Given the description of an element on the screen output the (x, y) to click on. 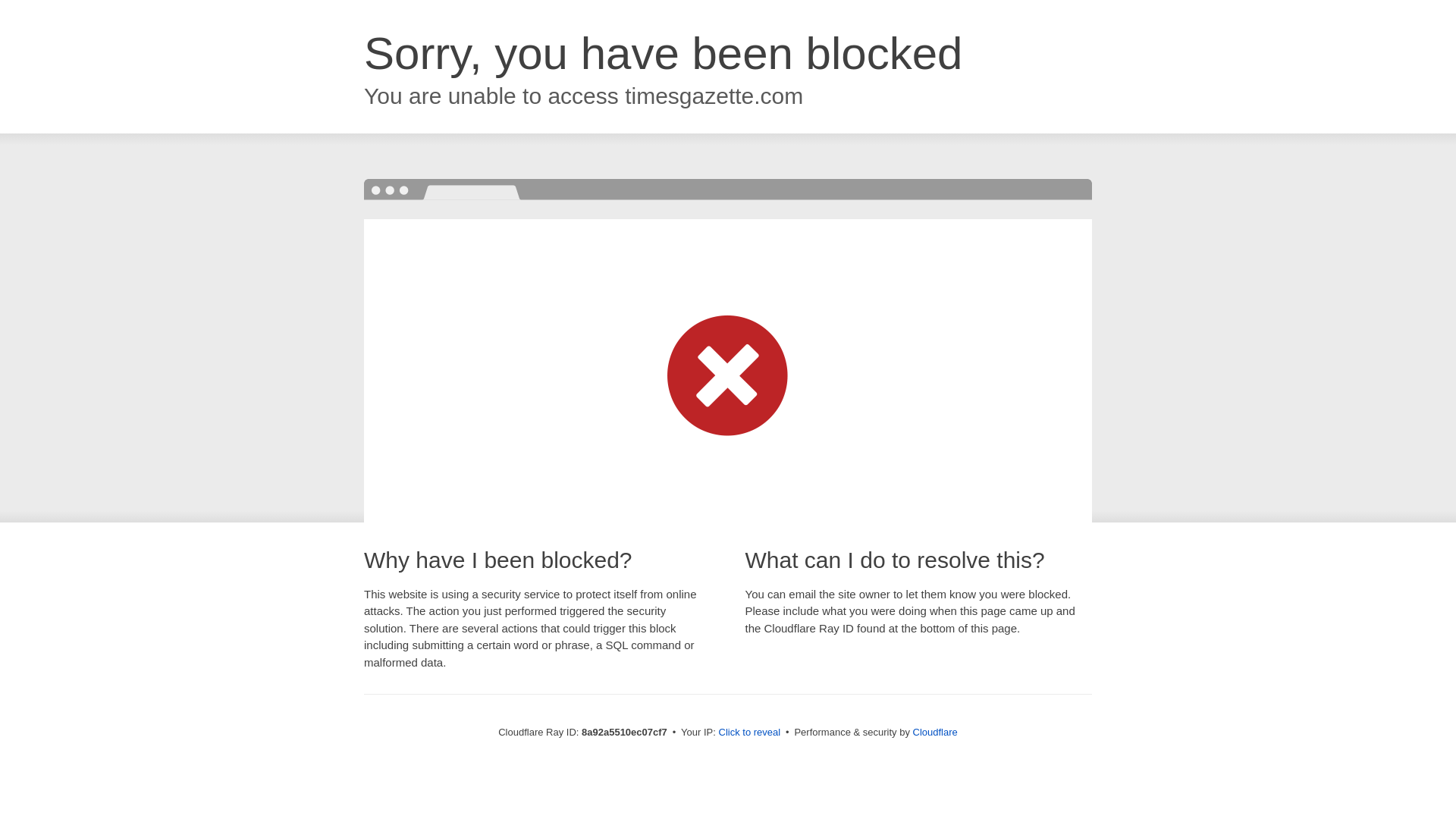
Click to reveal (749, 732)
Cloudflare (935, 731)
